Given the description of an element on the screen output the (x, y) to click on. 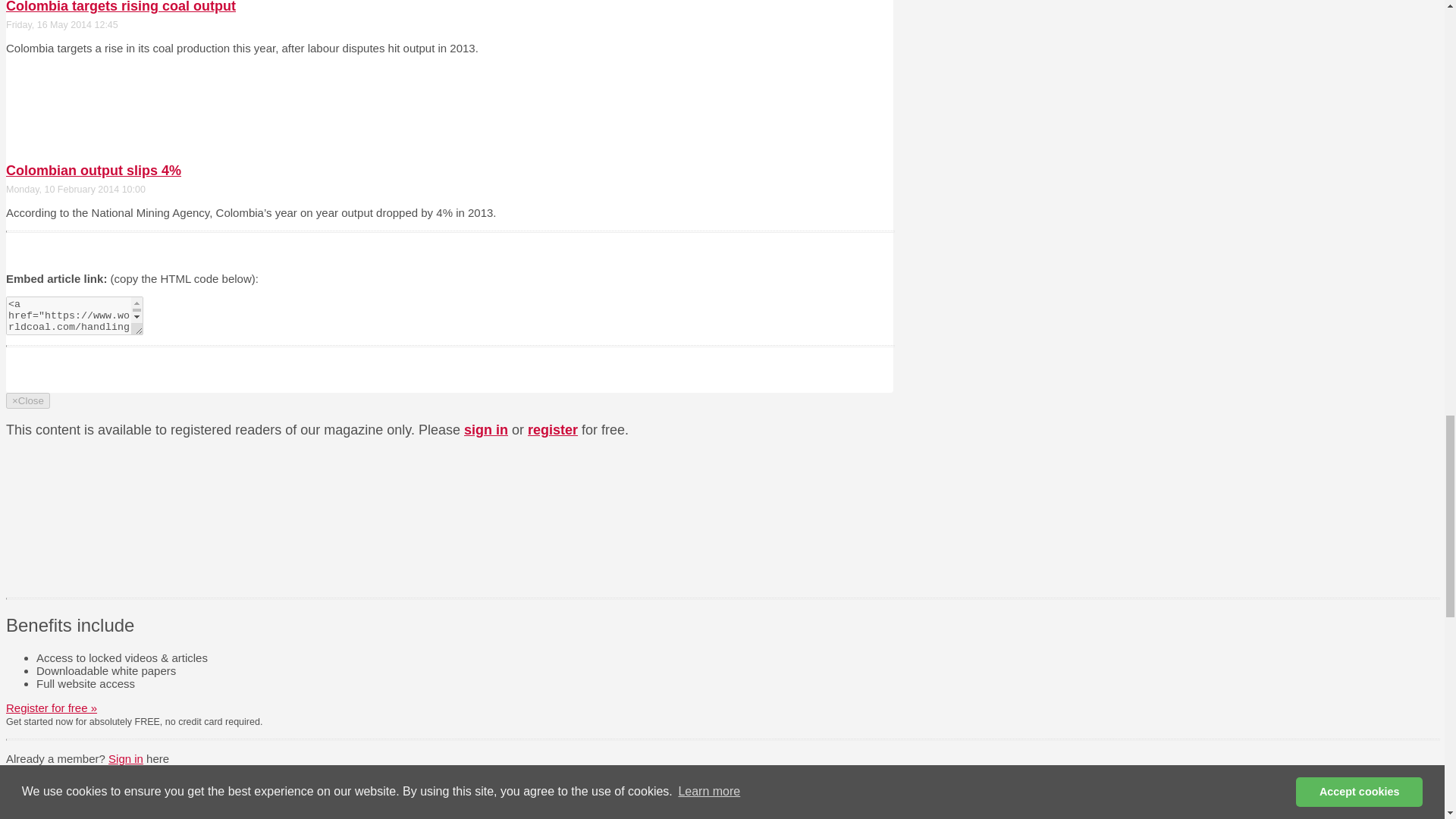
Colombia targets rising coal output (120, 6)
3rd party ad content (774, 483)
